Given the description of an element on the screen output the (x, y) to click on. 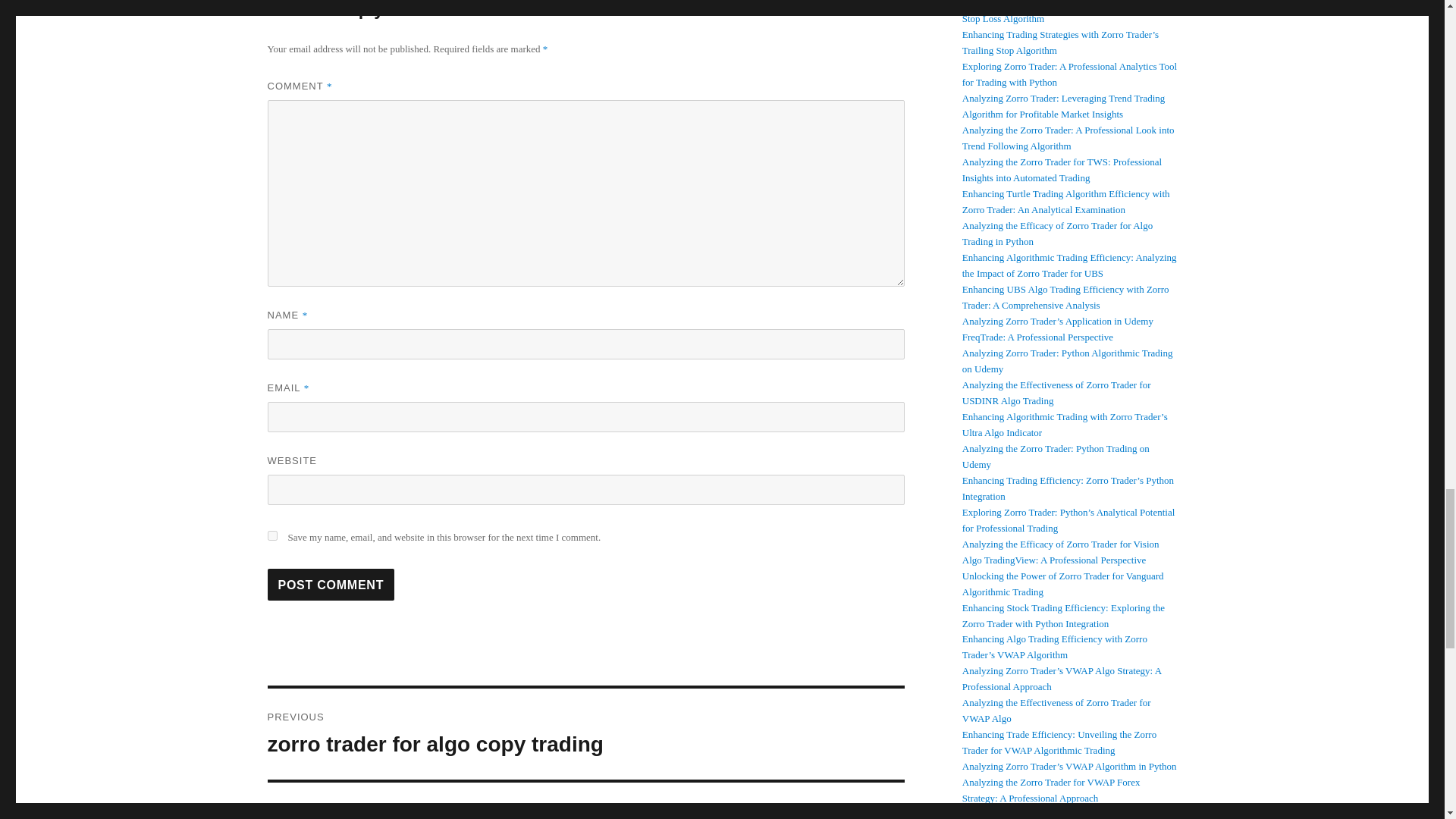
Post Comment (585, 733)
Post Comment (330, 584)
yes (330, 584)
